Given the description of an element on the screen output the (x, y) to click on. 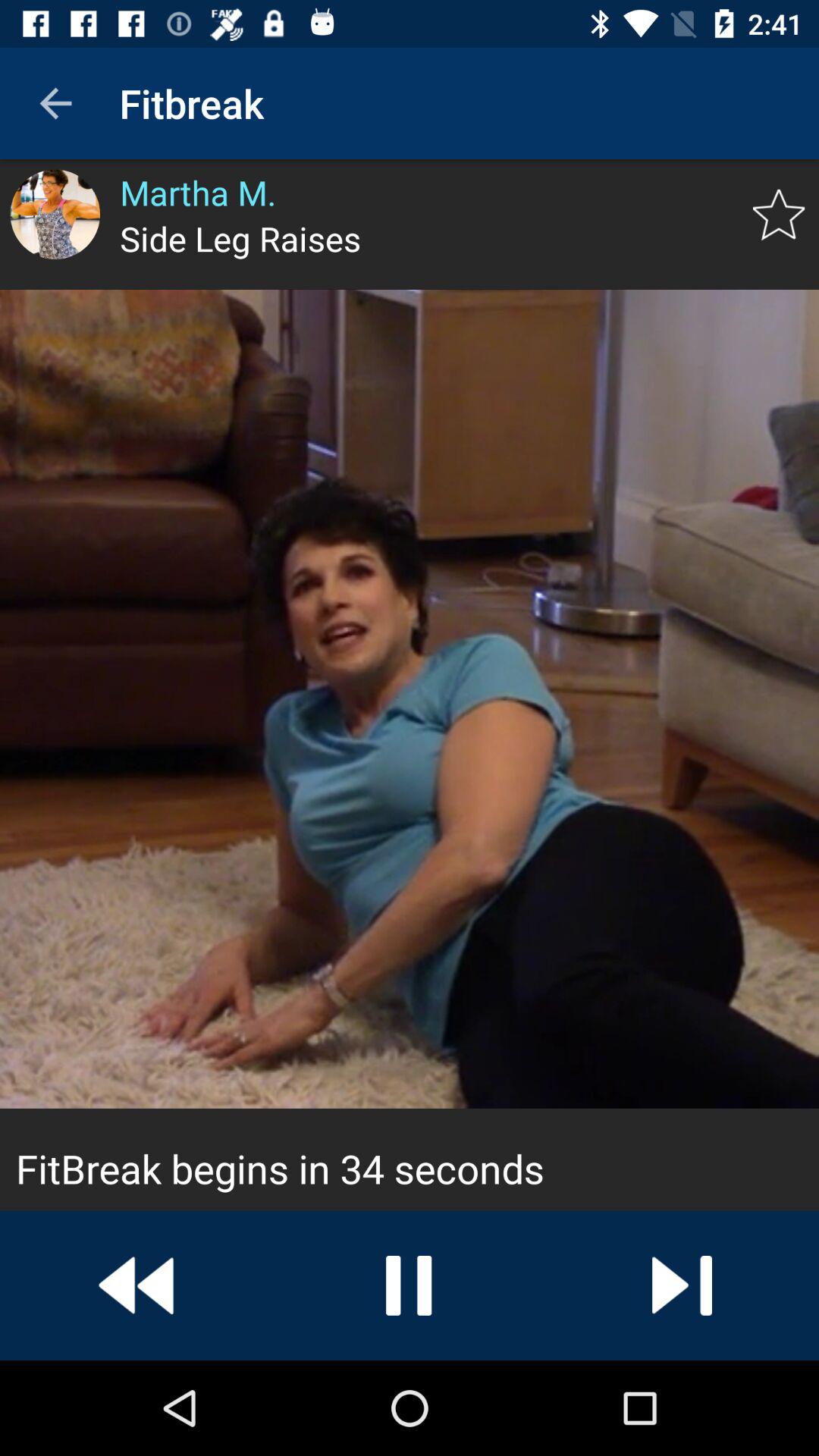
favorite exercise (778, 215)
